Given the description of an element on the screen output the (x, y) to click on. 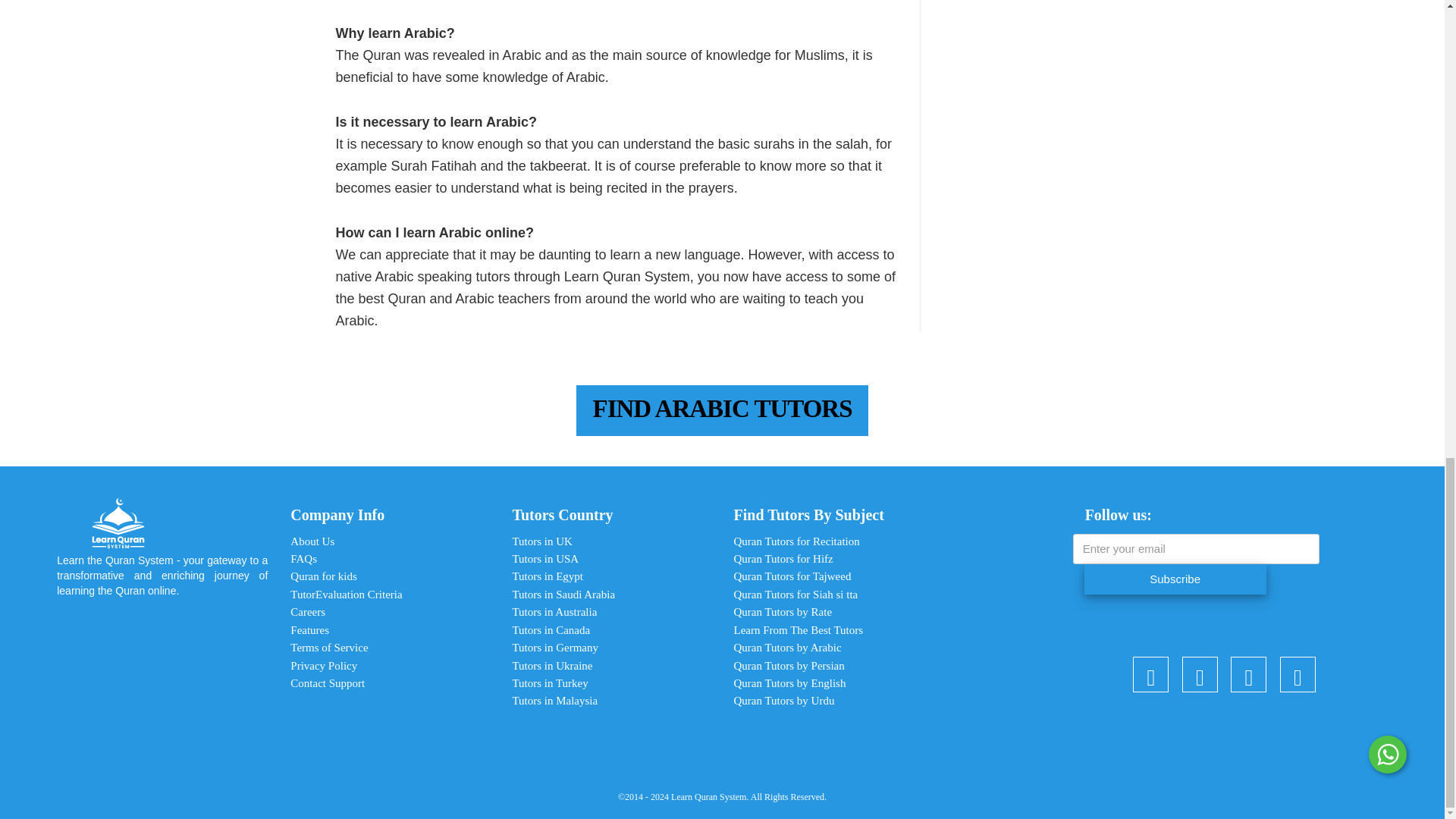
Tutors in Canada (550, 630)
Careers (306, 612)
About Us (311, 541)
Tutors in Egypt (547, 576)
Contact Support (327, 683)
Tutors in Malaysia (554, 700)
Twitter (1297, 677)
Tutors in Saudi Arabia (563, 594)
Tutors in UK (542, 541)
Quran Tutors for Recitation (796, 541)
Tutors in Australia (554, 612)
Tutors in Turkey (550, 683)
Twitter (1248, 677)
TutorEvaluation Criteria (345, 594)
Tutors in Germany (555, 647)
